Given the description of an element on the screen output the (x, y) to click on. 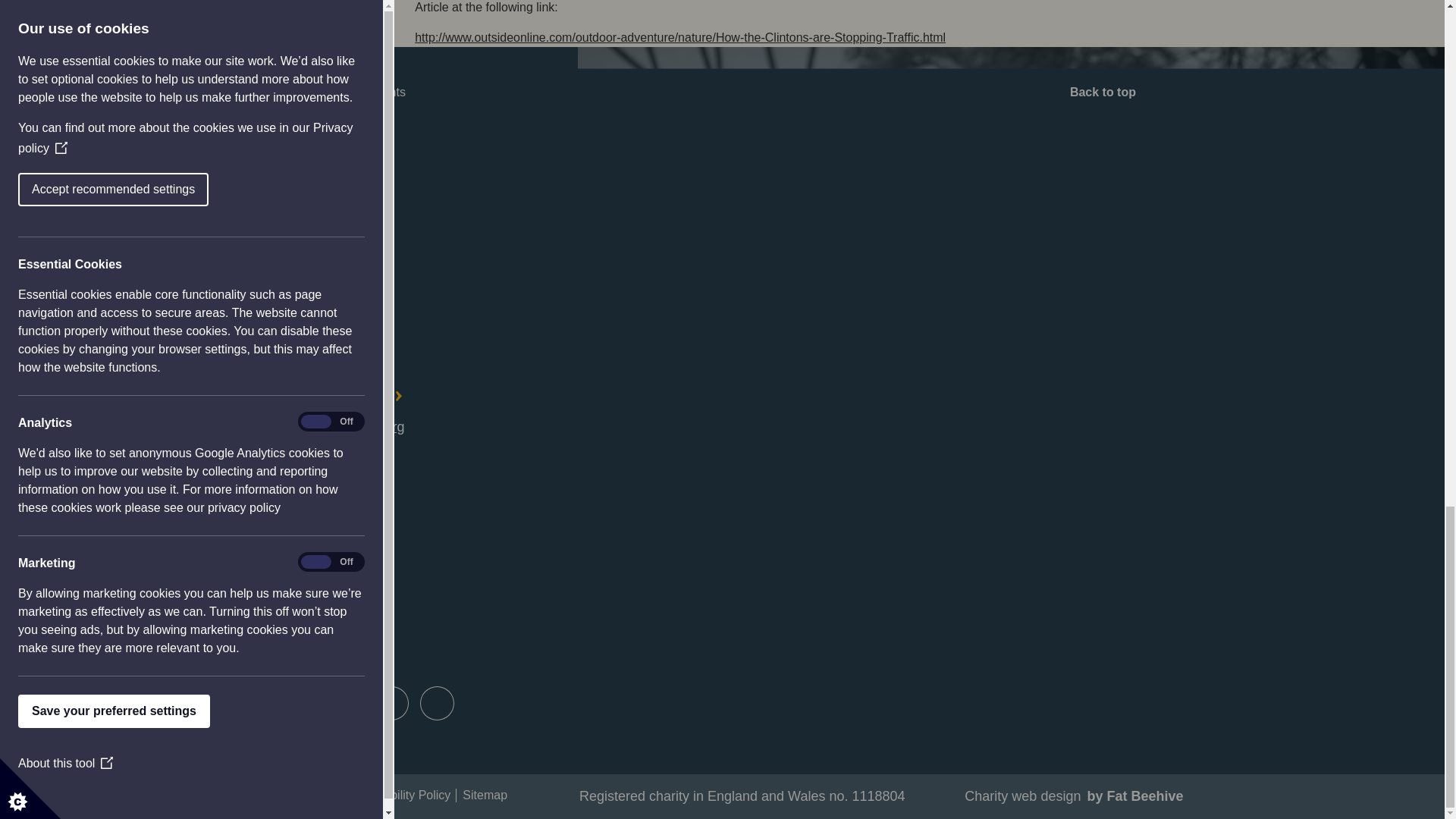
Linkedin (437, 703)
Instagram (346, 703)
Youtube (391, 703)
Facebook (254, 703)
Twitter (301, 703)
